Given the description of an element on the screen output the (x, y) to click on. 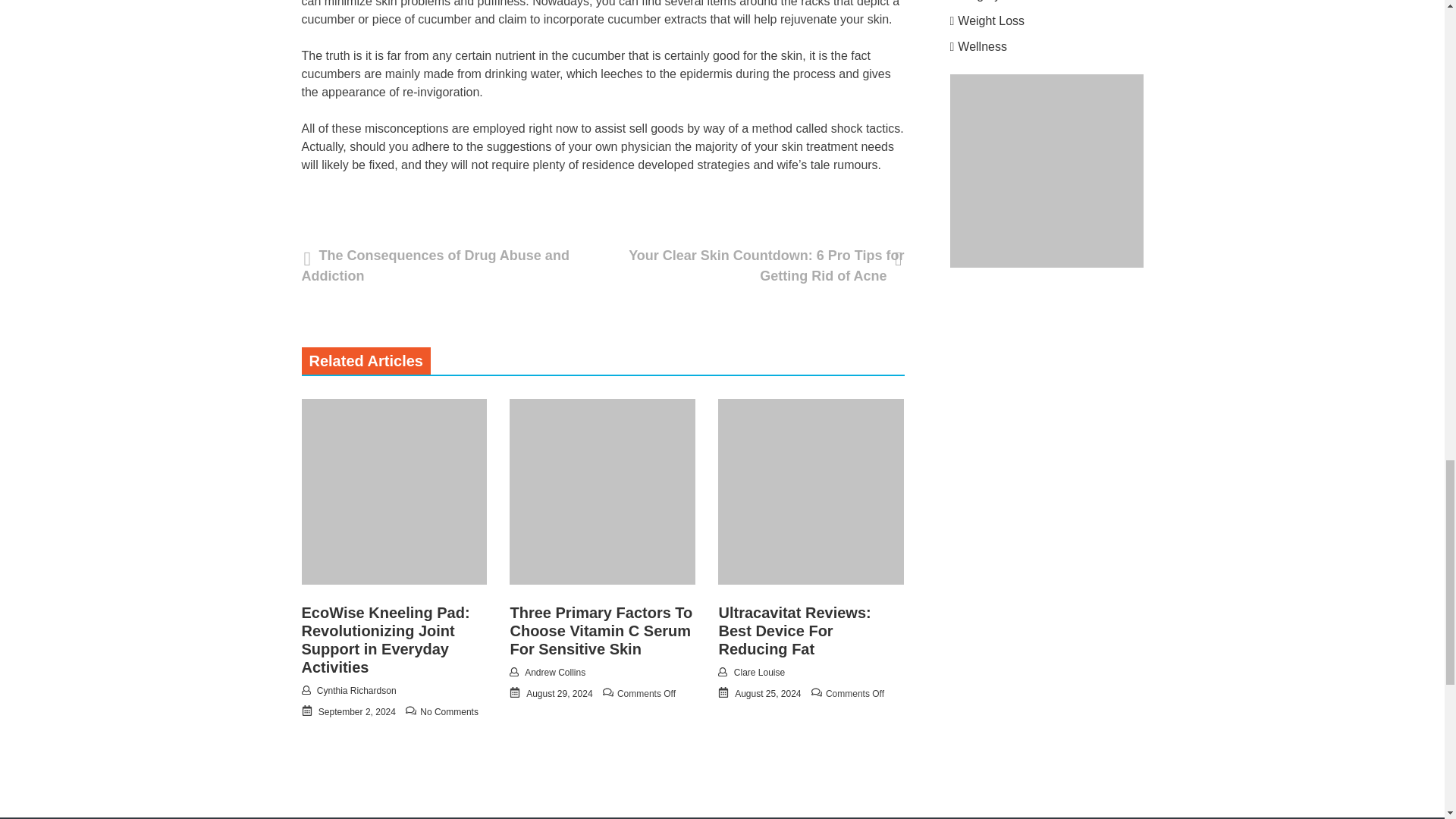
Cynthia Richardson (356, 690)
No Comments (449, 711)
The Consequences of Drug Abuse and Addiction (435, 265)
Ultracavitat Reviews: Best Device For Reducing Fat (793, 630)
Clare Louise (758, 672)
Andrew Collins (554, 672)
August 29, 2024 (558, 693)
